Given the description of an element on the screen output the (x, y) to click on. 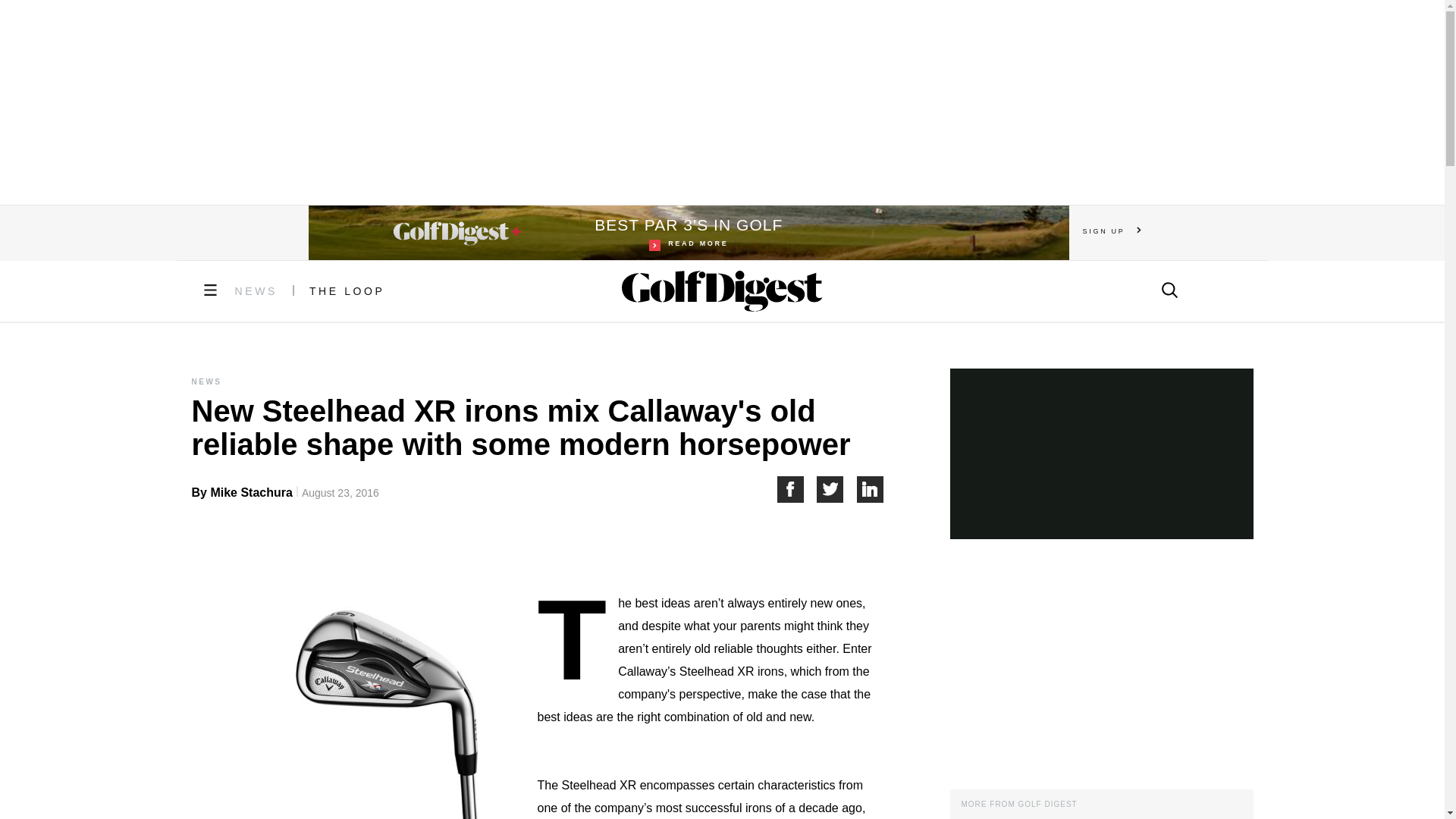
SIGN UP (1112, 230)
THE LOOP (346, 291)
NEWS (256, 291)
Share on Facebook (796, 488)
Share on Twitter (836, 488)
Share on LinkedIn (870, 488)
